Given the description of an element on the screen output the (x, y) to click on. 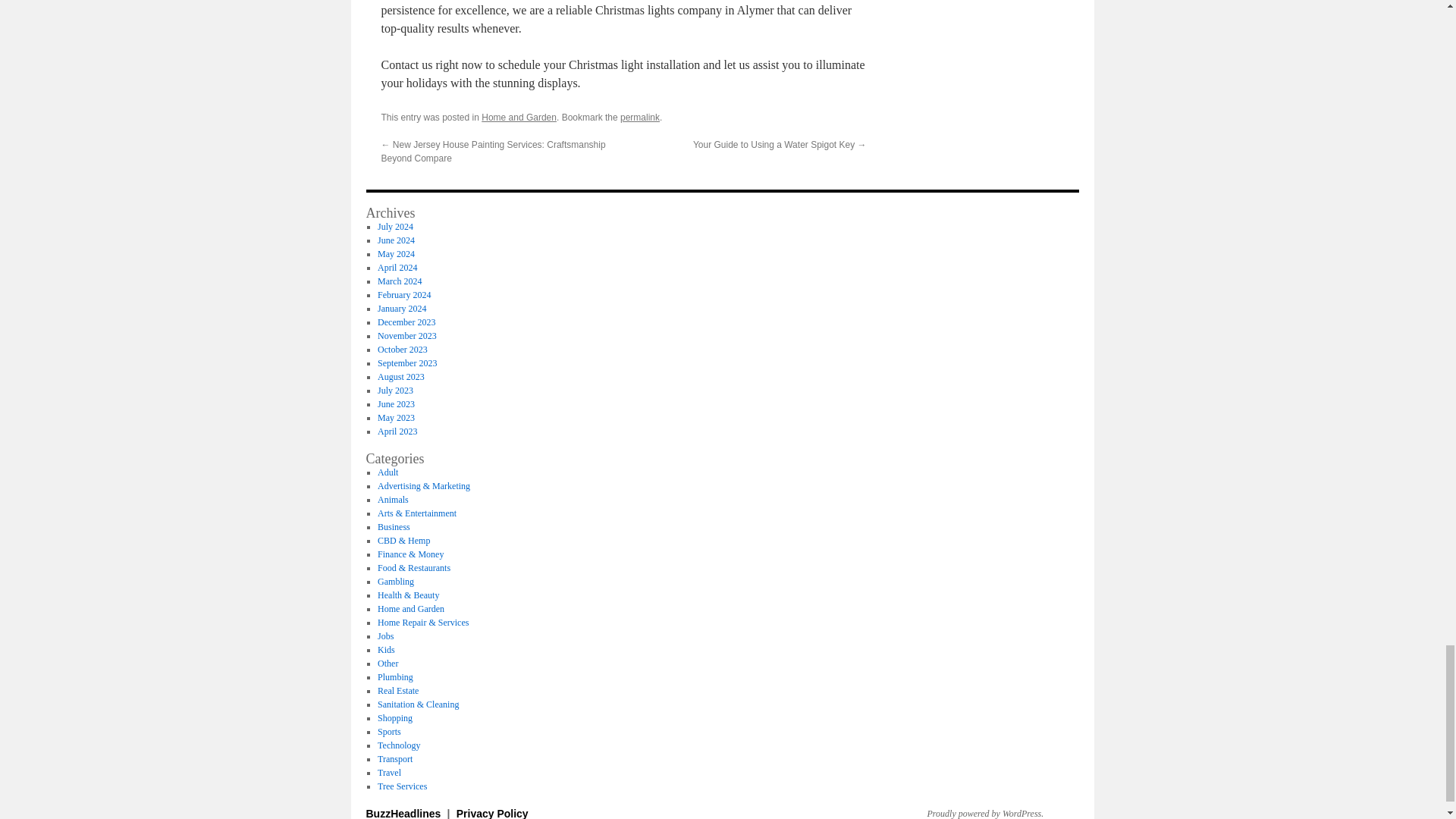
January 2024 (401, 308)
April 2023 (396, 430)
December 2023 (406, 321)
September 2023 (406, 362)
Home and Garden (518, 117)
March 2024 (399, 281)
Animals (393, 499)
June 2024 (395, 240)
permalink (639, 117)
Adult (387, 471)
October 2023 (402, 348)
May 2023 (395, 417)
June 2023 (395, 403)
May 2024 (395, 253)
February 2024 (403, 294)
